Given the description of an element on the screen output the (x, y) to click on. 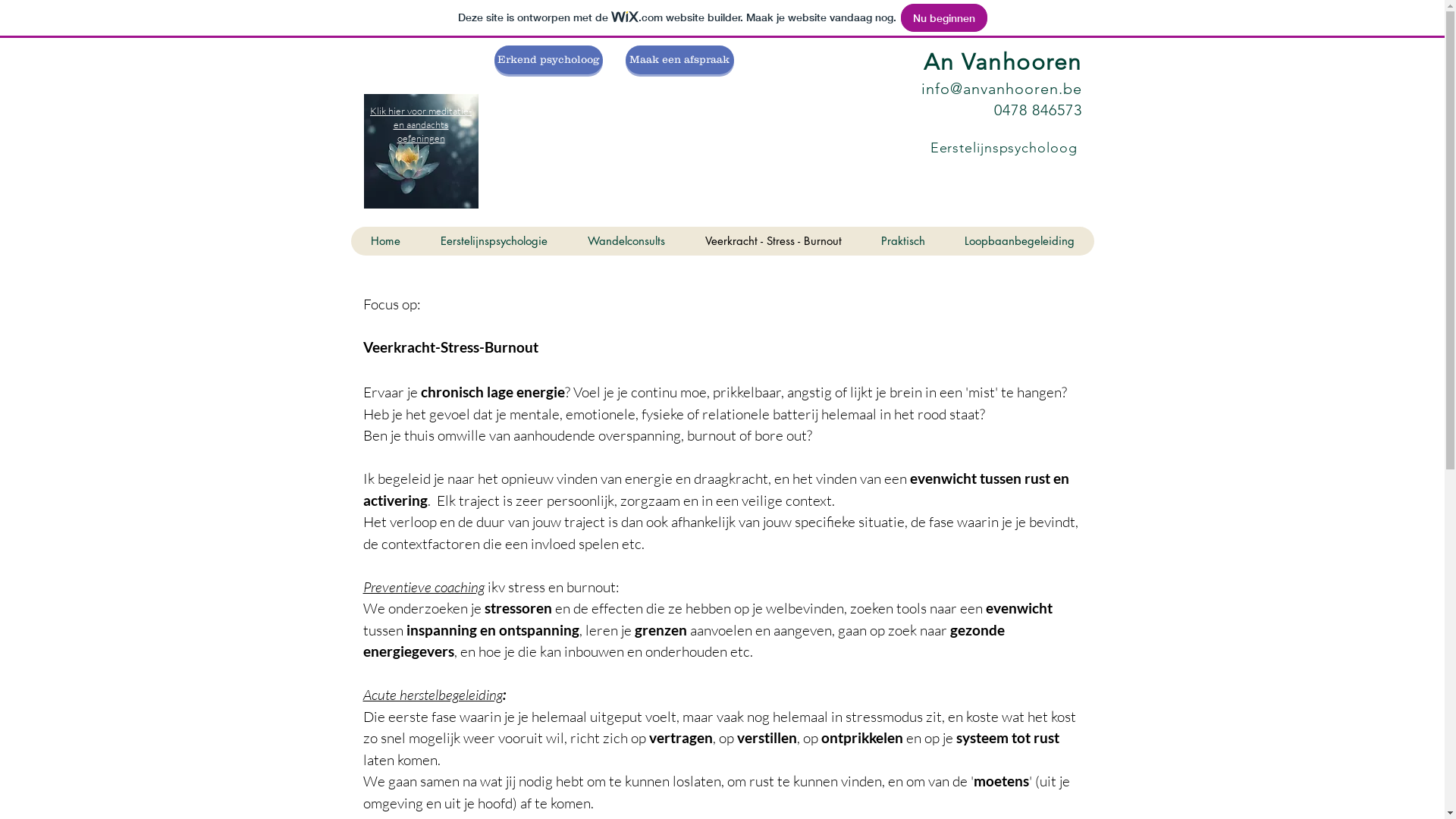
0478 846573 Element type: text (1037, 109)
Eerstelijnspsycholoog Element type: text (1003, 147)
Loopbaanbegeleiding Element type: text (1019, 240)
Wandelconsults Element type: text (625, 240)
  Element type: text (1079, 147)
Erkend psycholoog Element type: text (548, 59)
info@anvanhooren.be Element type: text (1000, 88)
Veerkracht - Stress - Burnout Element type: text (772, 240)
Eerstelijnspsychologie Element type: text (493, 240)
An Vanhooren Element type: text (1002, 61)
Home Element type: text (384, 240)
Maak een afspraak Element type: text (678, 59)
Praktisch Element type: text (902, 240)
Klik hier voor meditatie- en aandachts
oefeningen Element type: text (420, 124)
